Given the description of an element on the screen output the (x, y) to click on. 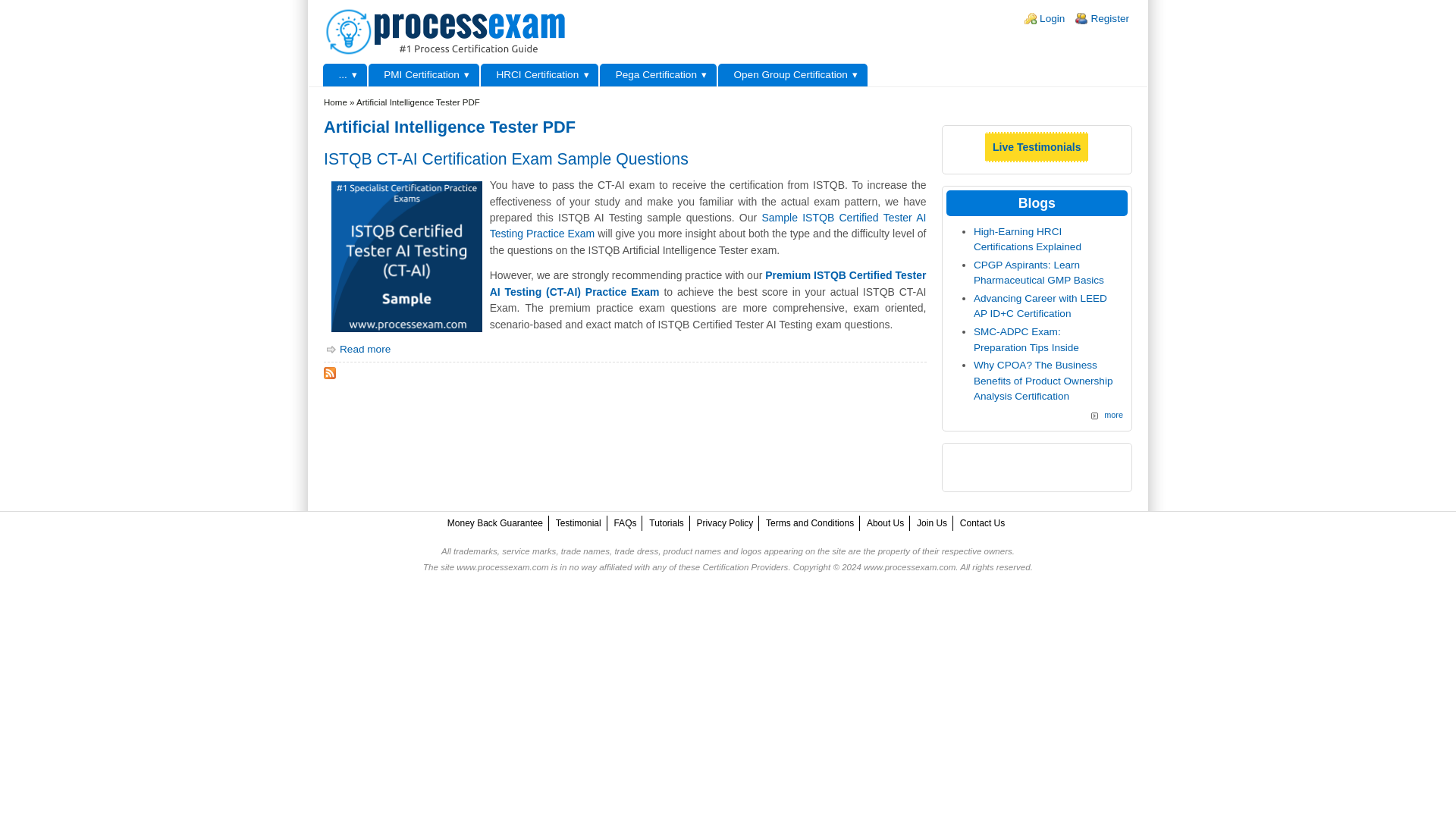
... (344, 74)
Other Certification (344, 74)
Login (1051, 18)
Skip to search (32, 0)
Register (1109, 18)
